Given the description of an element on the screen output the (x, y) to click on. 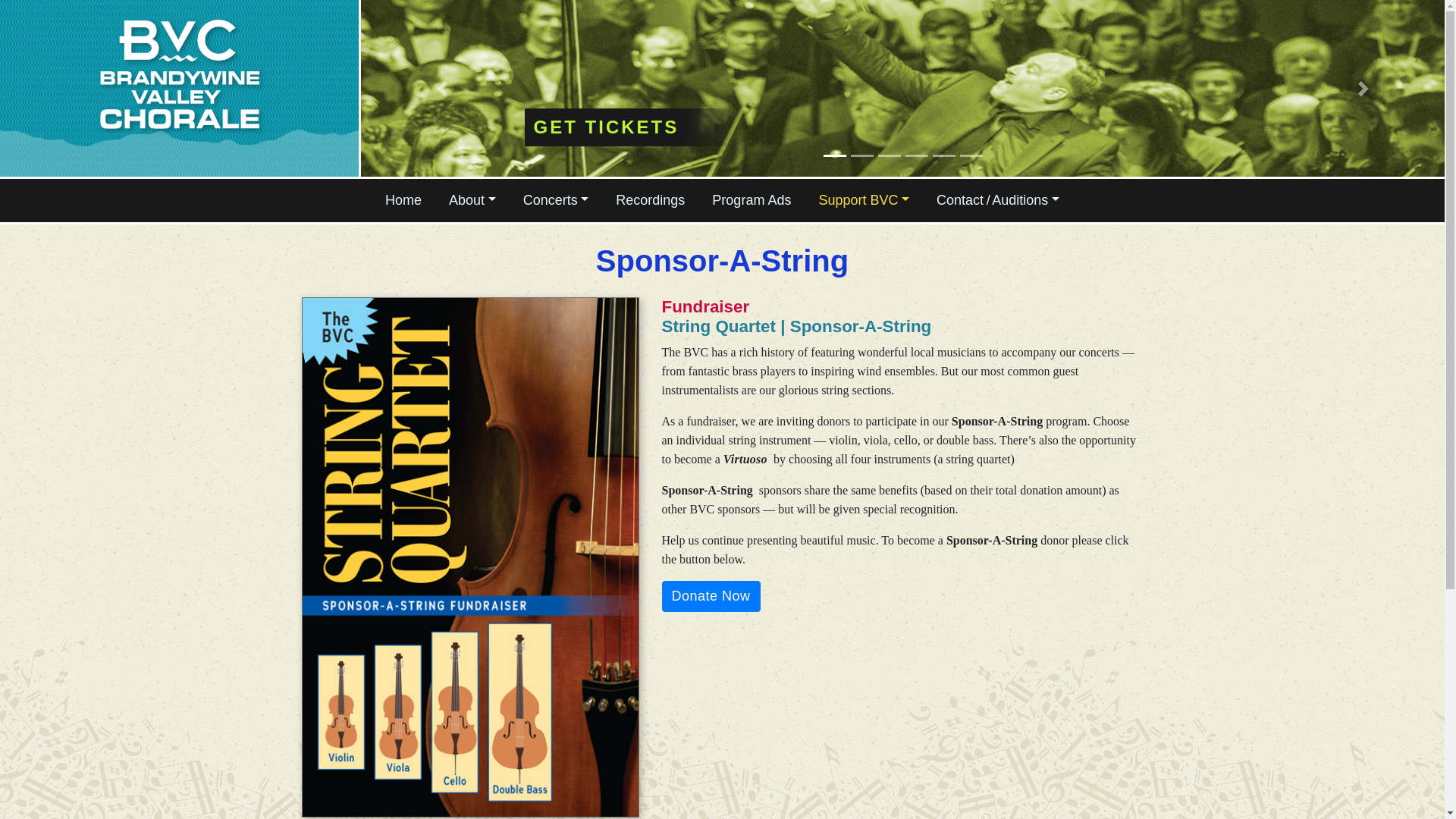
Recordings (650, 200)
Previous (441, 88)
Concerts (555, 200)
Home (403, 200)
Program Ads (751, 200)
About (472, 200)
GET TICKETS (628, 127)
Support BVC (863, 200)
